Given the description of an element on the screen output the (x, y) to click on. 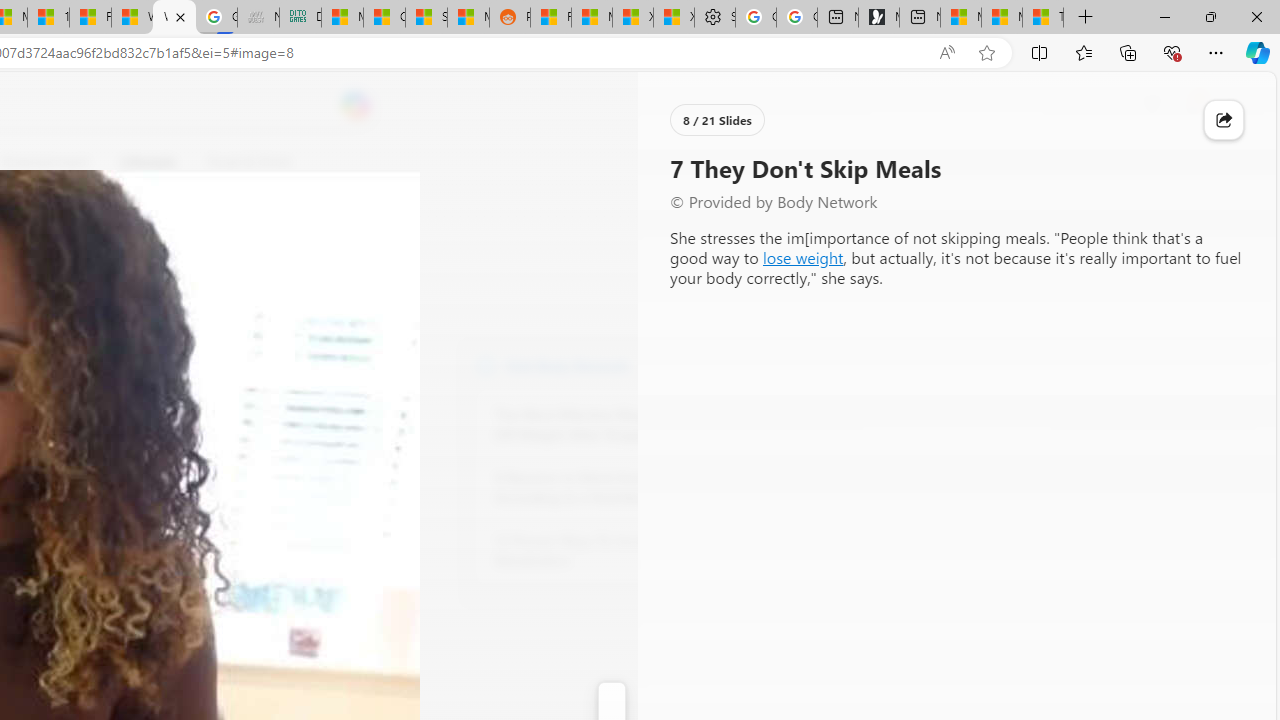
Open Copilot (355, 105)
Class: at-item immersive (1224, 120)
Microsoft Start Gaming (878, 17)
These 3 Stocks Pay You More Than 5% to Own Them (1042, 17)
DITOGAMES AG Imprint (300, 17)
Open settings (1231, 105)
To get missing image descriptions, open the context menu. (671, 162)
Visit Body Network website (733, 364)
14 Common Myths Debunked By Scientific Facts (48, 17)
